Given the description of an element on the screen output the (x, y) to click on. 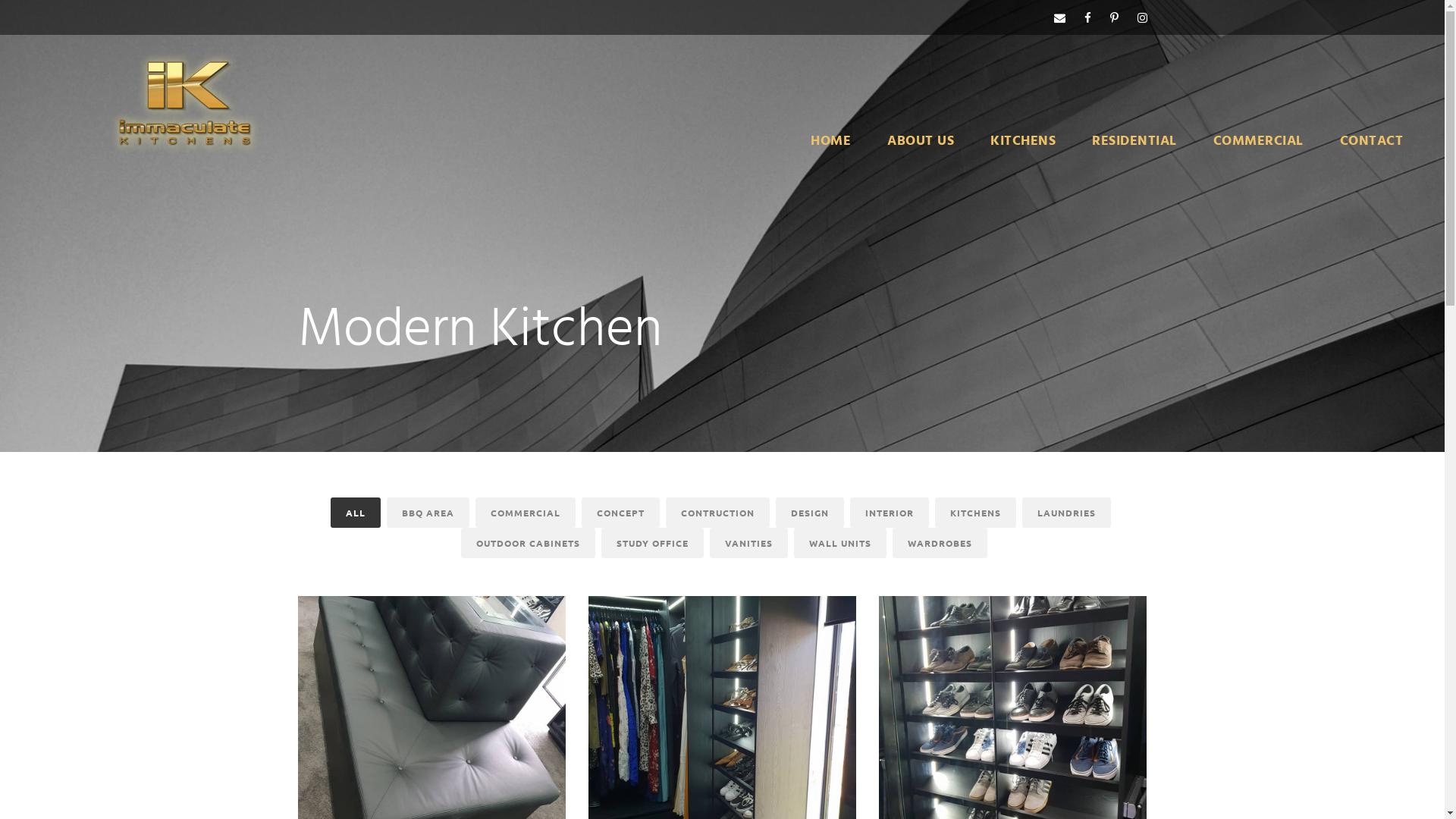
KITCHENS Element type: text (1022, 152)
WARDROBES Element type: text (938, 542)
BBQ AREA Element type: text (427, 512)
COMMERCIAL Element type: text (1258, 152)
email Element type: hover (1059, 16)
pinterest Element type: hover (1114, 16)
INTERIOR Element type: text (889, 512)
COMMERCIAL Element type: text (525, 512)
STUDY OFFICE Element type: text (651, 542)
WALL UNITS Element type: text (839, 542)
ABOUT US Element type: text (920, 152)
RESIDENTIAL Element type: text (1134, 152)
instagram Element type: hover (1142, 16)
facebook Element type: hover (1087, 16)
ALL Element type: text (355, 512)
CONTACT Element type: text (1370, 152)
CONTRUCTION Element type: text (717, 512)
DESIGN Element type: text (809, 512)
KITCHENS Element type: text (975, 512)
OUTDOOR CABINETS Element type: text (528, 542)
LAUNDRIES Element type: text (1066, 512)
VANITIES Element type: text (748, 542)
immaculate-kitchens-gold-coast Element type: hover (138, 100)
CONCEPT Element type: text (620, 512)
HOME Element type: text (830, 152)
